Given the description of an element on the screen output the (x, y) to click on. 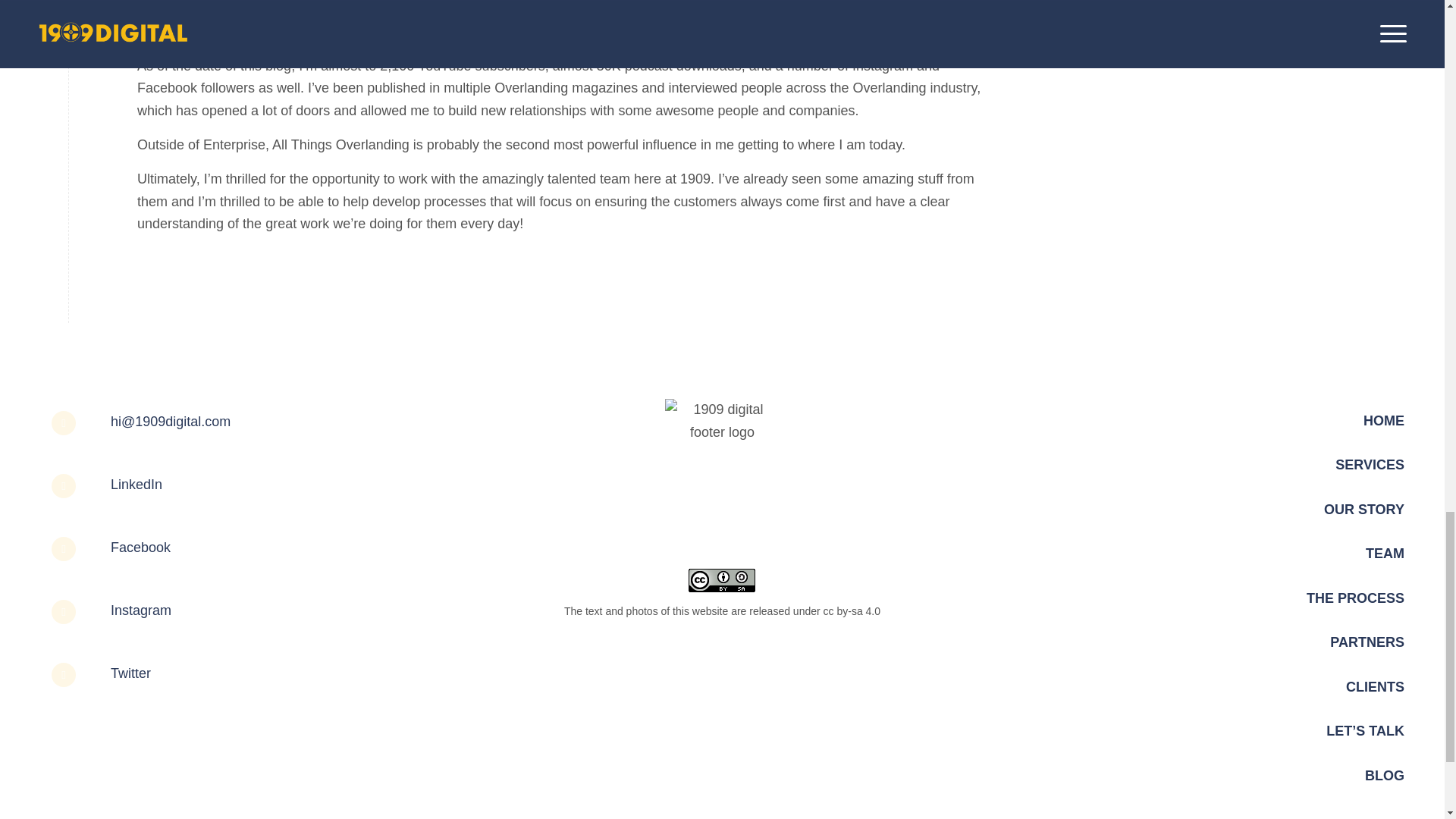
LinkedIn (135, 484)
Twitter (130, 672)
Instagram (140, 610)
Facebook (140, 547)
